Given the description of an element on the screen output the (x, y) to click on. 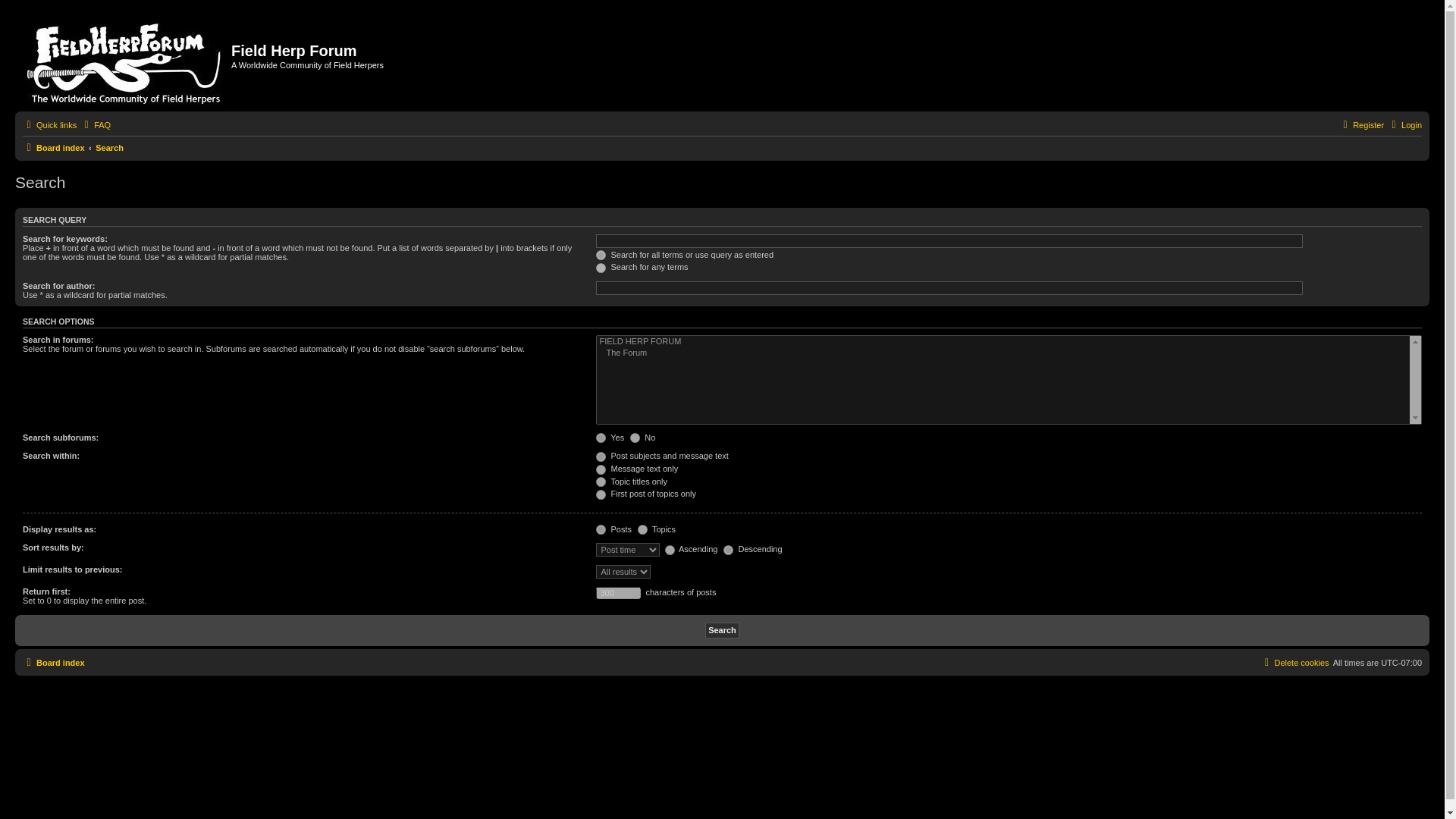
Search (109, 147)
Board index (53, 147)
Search (109, 147)
all (600, 456)
300 (617, 592)
topics (642, 529)
Register (1361, 125)
Quick links (50, 125)
Board index (53, 662)
a (670, 550)
Search (721, 630)
Return first (617, 592)
FAQ (95, 125)
posts (600, 529)
0 (635, 438)
